Given the description of an element on the screen output the (x, y) to click on. 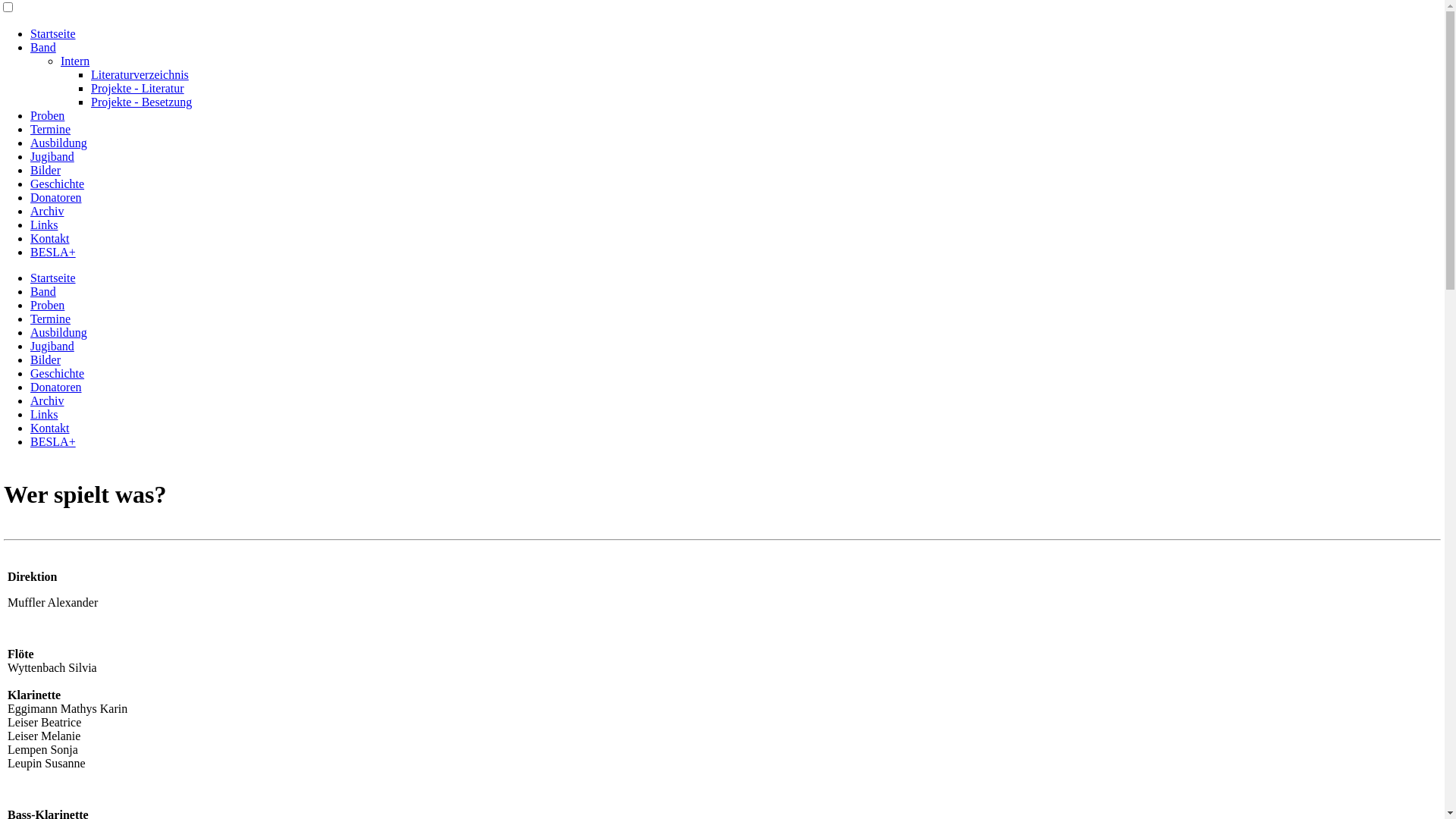
Links Element type: text (43, 413)
Projekte - Besetzung Element type: text (141, 101)
Proben Element type: text (47, 115)
Proben Element type: text (47, 304)
Geschichte Element type: text (57, 183)
Geschichte Element type: text (57, 373)
Links Element type: text (43, 224)
Ausbildung Element type: text (58, 332)
Band Element type: text (43, 46)
Bilder Element type: text (45, 359)
Termine Element type: text (50, 128)
Kontakt Element type: text (49, 427)
Startseite Element type: text (52, 33)
Literaturverzeichnis Element type: text (139, 74)
Donatoren Element type: text (55, 386)
Intern Element type: text (74, 60)
Projekte - Literatur Element type: text (137, 87)
Archiv Element type: text (46, 400)
Band Element type: text (43, 291)
Kontakt Element type: text (49, 238)
Archiv Element type: text (46, 210)
Termine Element type: text (50, 318)
Jugiband Element type: text (52, 156)
Jugiband Element type: text (52, 345)
Startseite Element type: text (52, 277)
Ausbildung Element type: text (58, 142)
BESLA+ Element type: text (52, 441)
Bilder Element type: text (45, 169)
BESLA+ Element type: text (52, 251)
Donatoren Element type: text (55, 197)
